Given the description of an element on the screen output the (x, y) to click on. 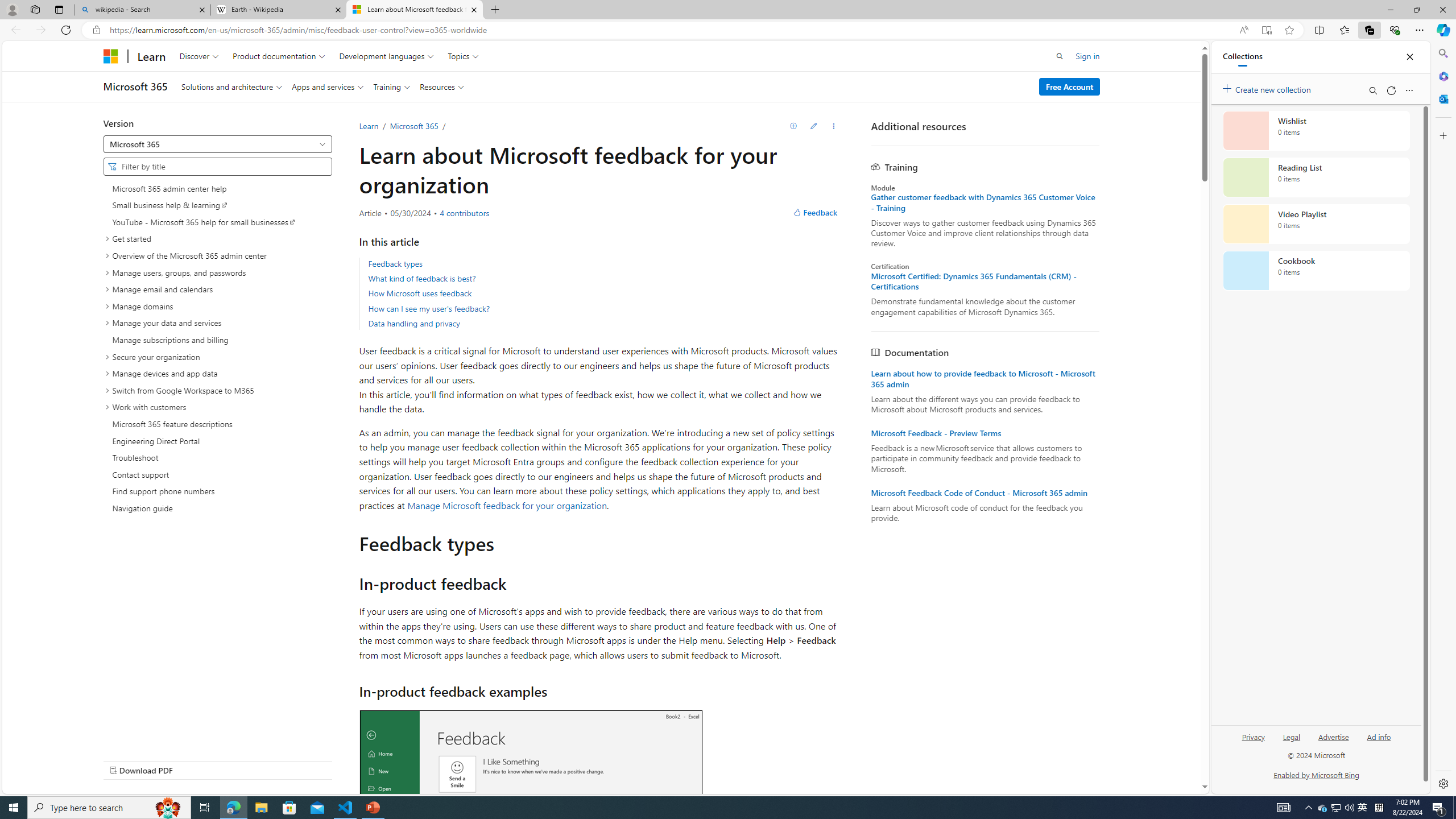
Split screen (1318, 29)
Data handling and privacy (604, 323)
How Microsoft uses feedback (419, 292)
More options menu (1409, 90)
Collections (1369, 29)
Cookbook collection, 0 items (1316, 270)
Development languages (386, 55)
Topics (462, 55)
Learn (368, 125)
Resources (441, 86)
Edit (813, 126)
Settings (1442, 783)
